Given the description of an element on the screen output the (x, y) to click on. 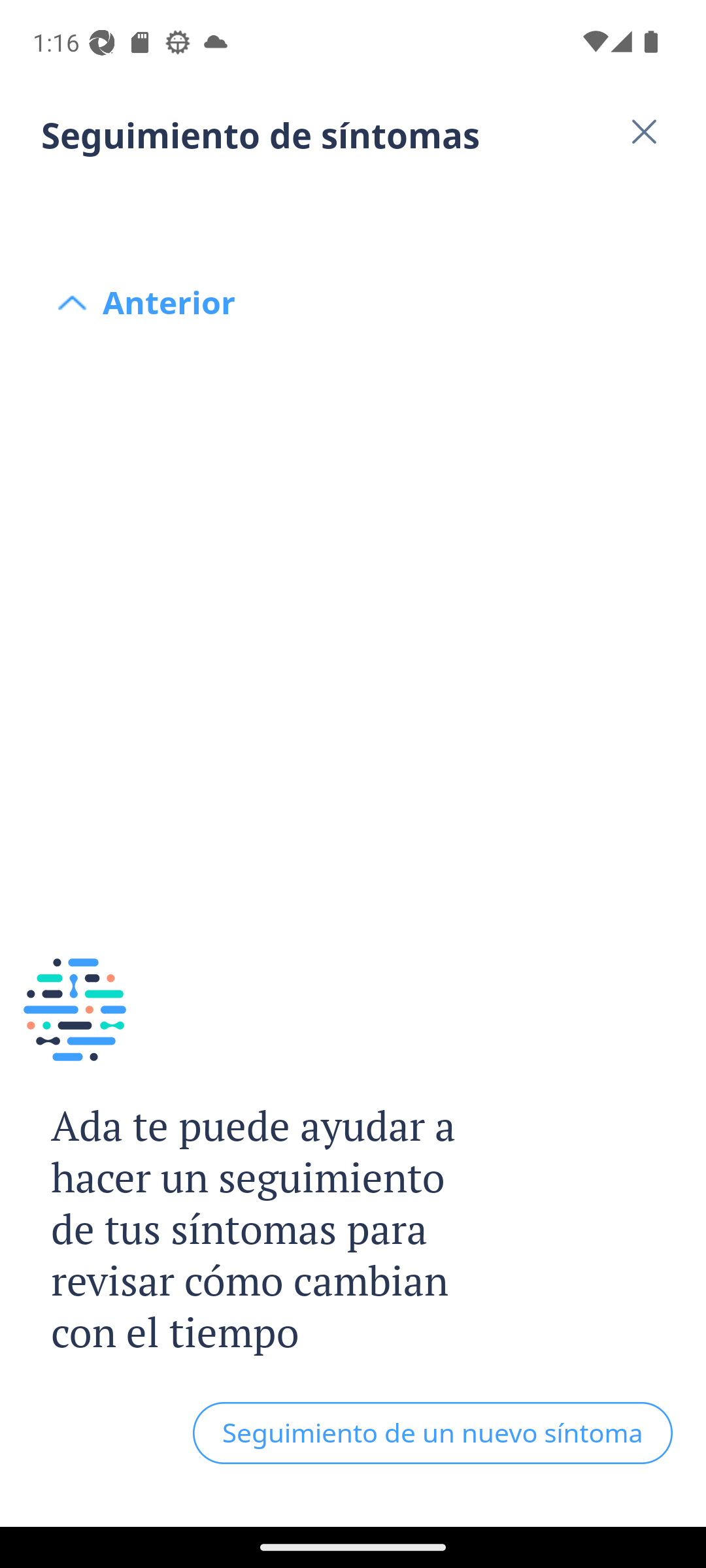
undo Anterior (353, 203)
Seguimiento de un nuevo síntoma (432, 1432)
